Given the description of an element on the screen output the (x, y) to click on. 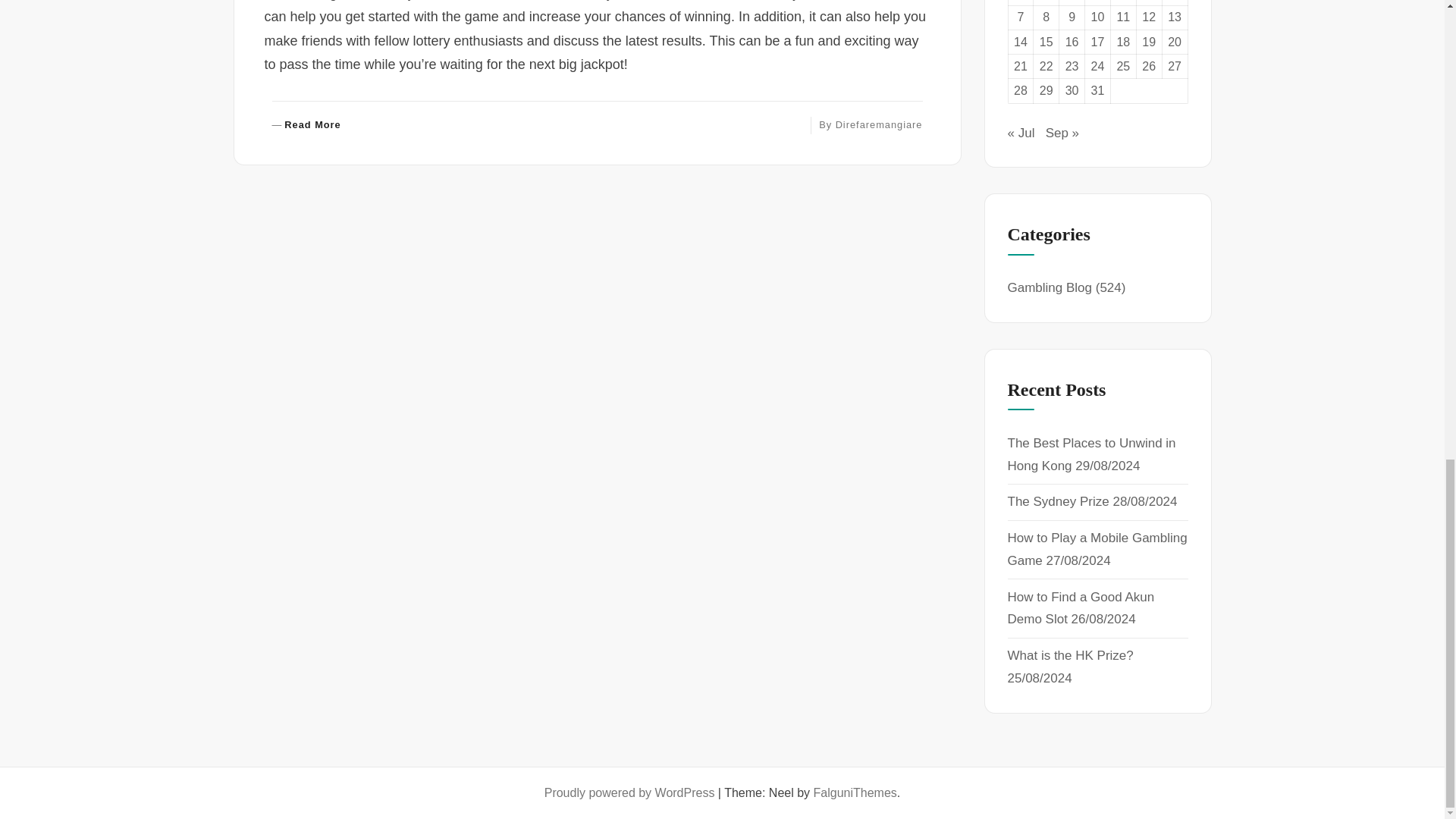
Direfaremangiare (879, 124)
11 (305, 124)
10 (1122, 16)
